Given the description of an element on the screen output the (x, y) to click on. 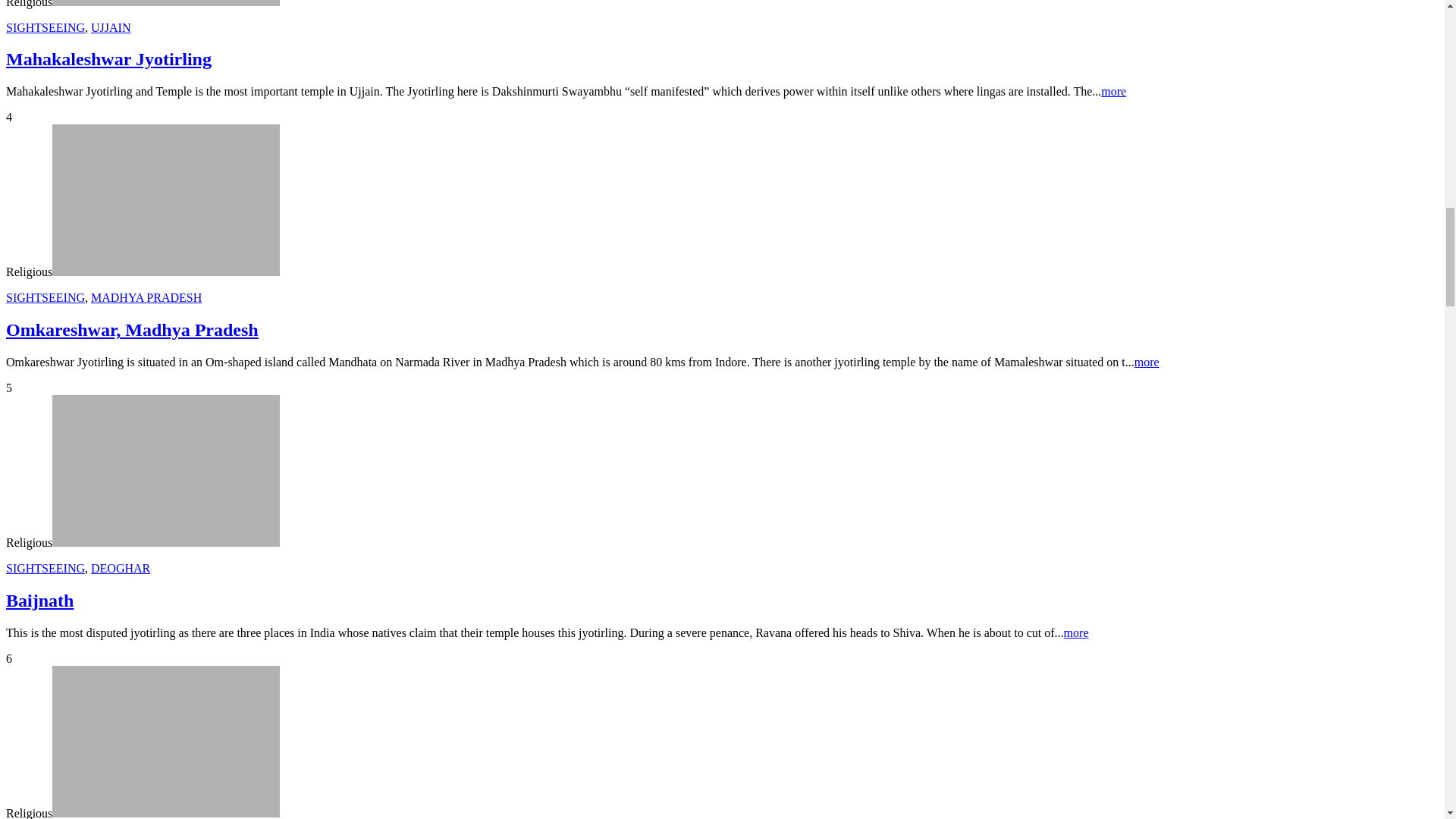
Mahakaleshwar Jyotirling (165, 2)
Bhimashankar, Maharashtra (165, 741)
Omkareshwar, Madhya Pradesh (165, 200)
Baijnath (165, 470)
